Given the description of an element on the screen output the (x, y) to click on. 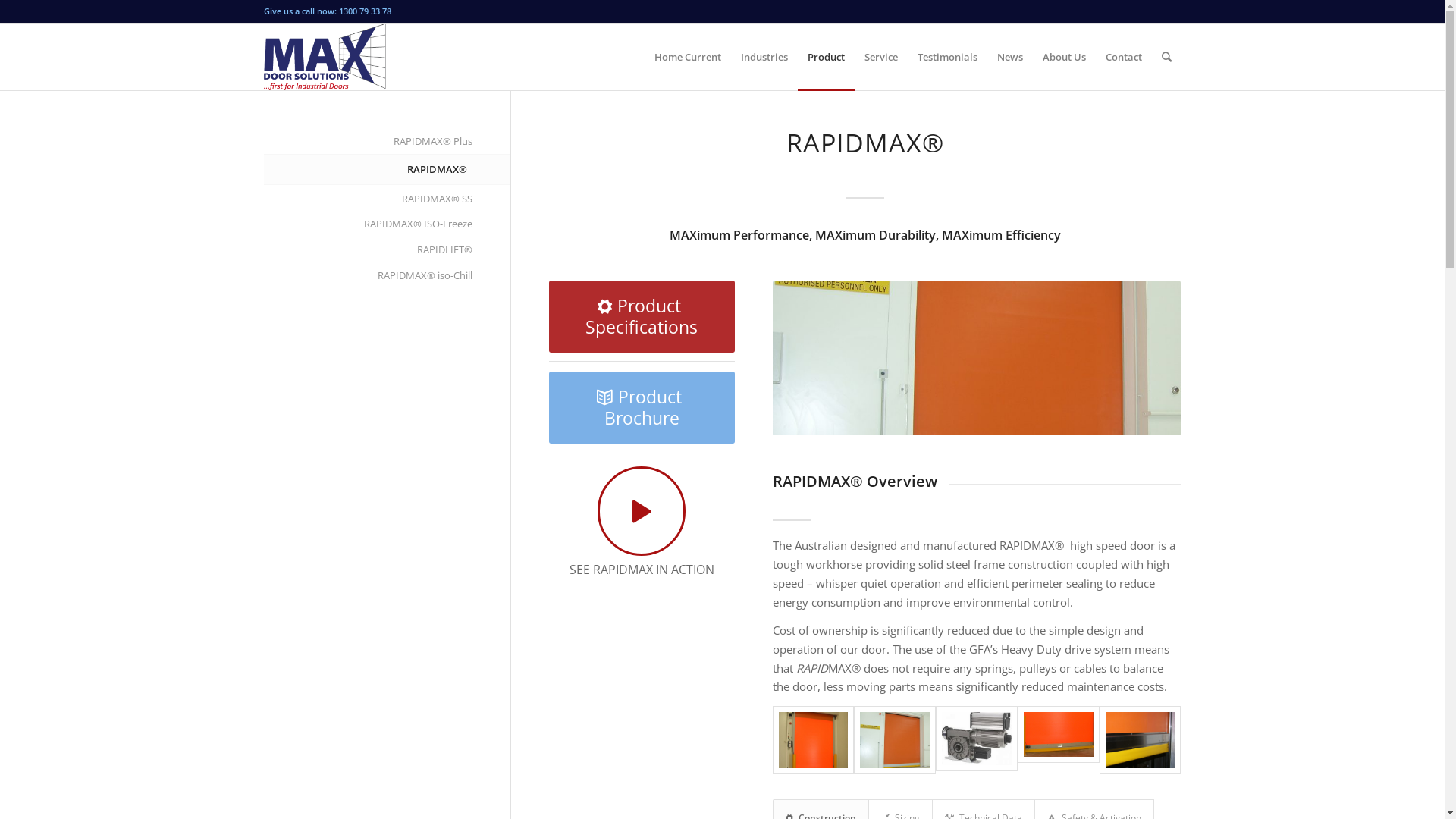
Industries Element type: text (764, 56)
RAPIDMAX-2 Element type: hover (976, 738)
Home Current Element type: text (687, 56)
About Us Element type: text (1063, 56)
News Element type: text (1009, 56)
Contact Element type: text (1123, 56)
Service Element type: text (879, 56)
Testimonials Element type: text (946, 56)
Product Brochure Element type: text (641, 407)
SAMSUNG DIGITAL CAMERA Element type: hover (813, 740)
SAMSUNG DIGITAL CAMERA Element type: hover (1140, 740)
Product Specifications Element type: text (641, 316)
Product Element type: text (825, 56)
SAMSUNG DIGITAL CAMERA Element type: hover (976, 358)
Rectangular-Rapid Element type: hover (1058, 734)
SAMSUNG DIGITAL CAMERA Element type: hover (894, 740)
